Given the description of an element on the screen output the (x, y) to click on. 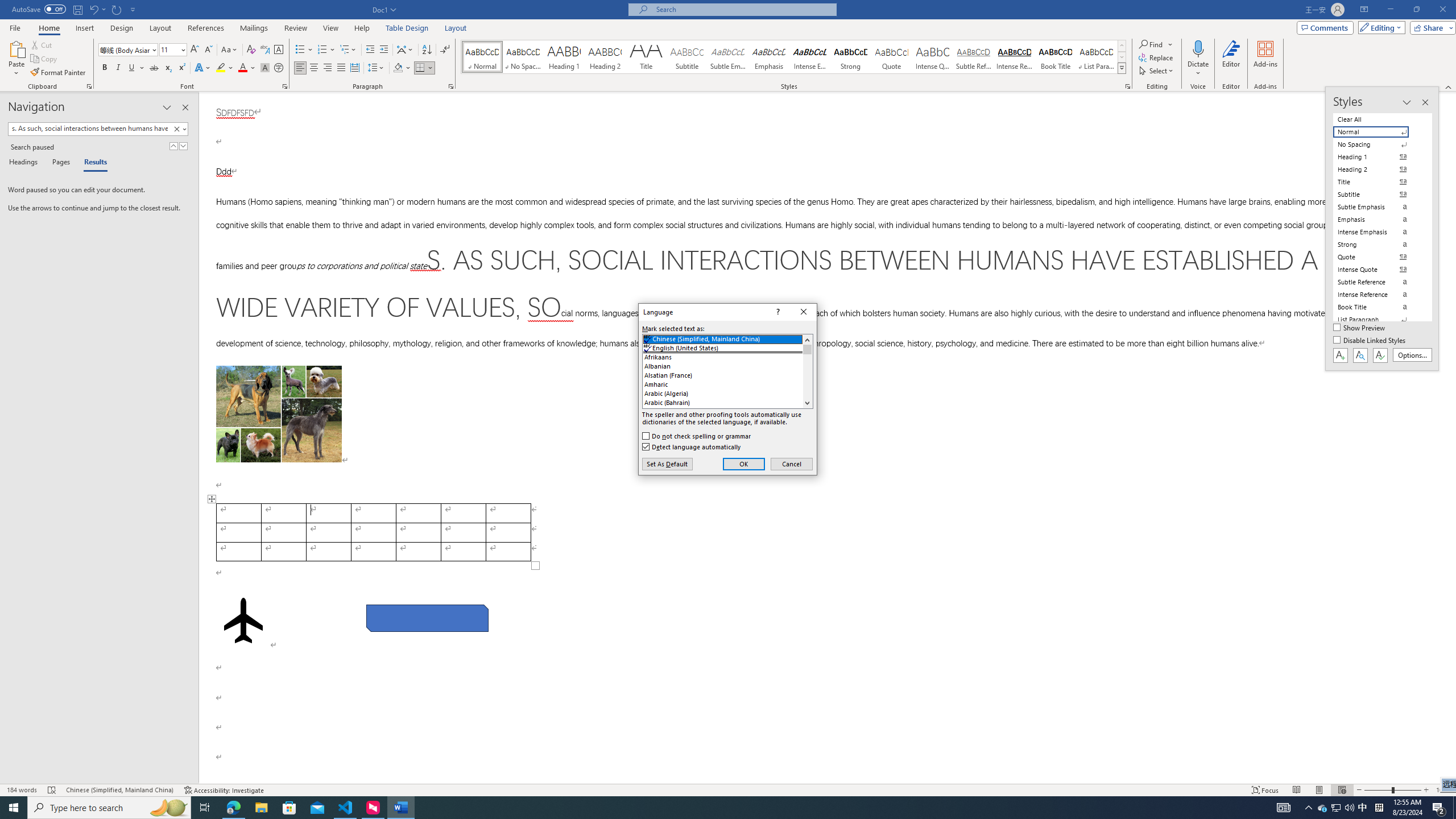
Font Color RGB(255, 0, 0) (241, 67)
Zoom 100% (1443, 790)
